Given the description of an element on the screen output the (x, y) to click on. 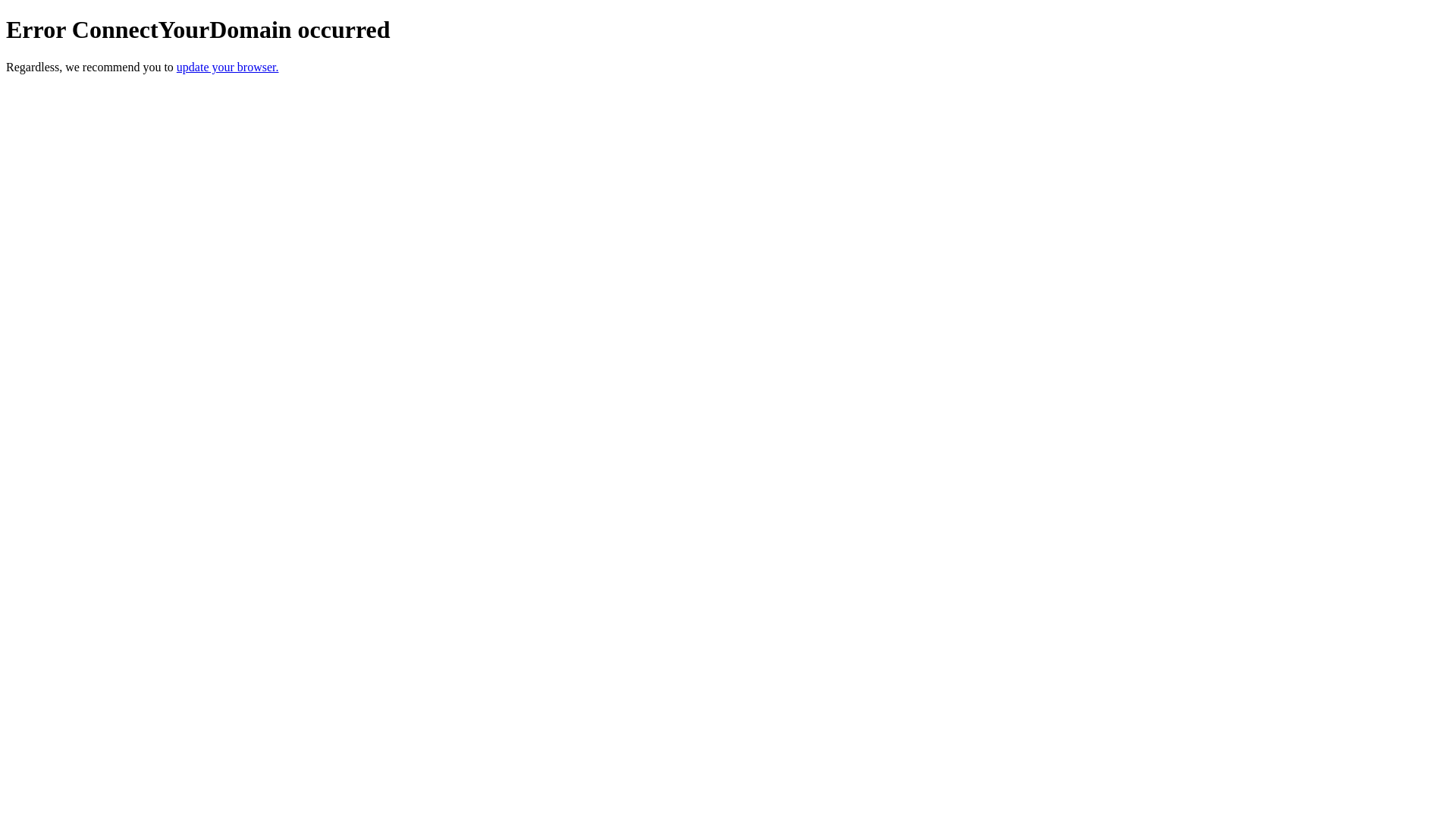
update your browser. Element type: text (227, 66)
